Given the description of an element on the screen output the (x, y) to click on. 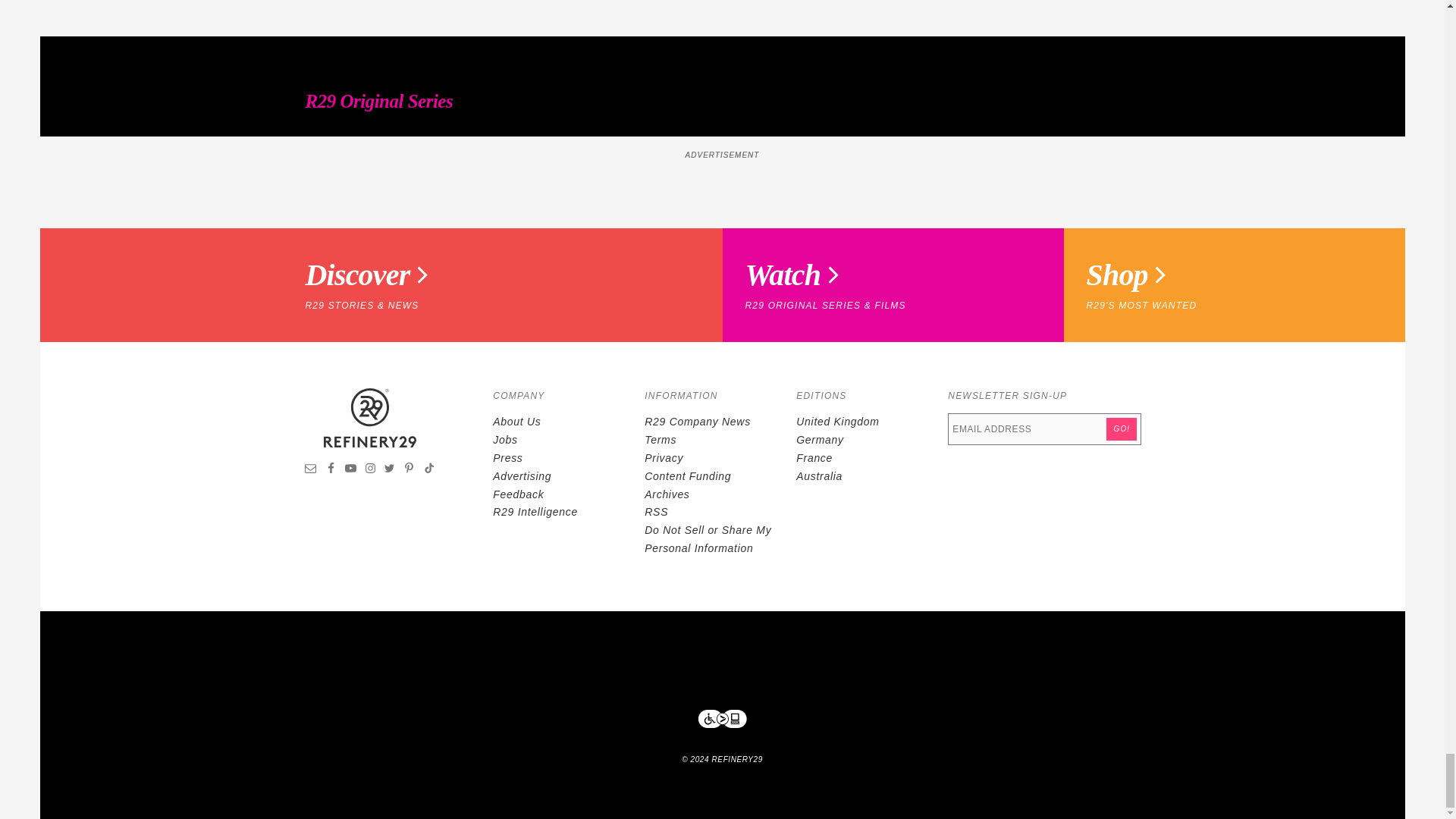
Sign up for newsletters (310, 469)
Visit Refinery29 on YouTube (350, 469)
Visit Refinery29 on TikTok (428, 469)
